Given the description of an element on the screen output the (x, y) to click on. 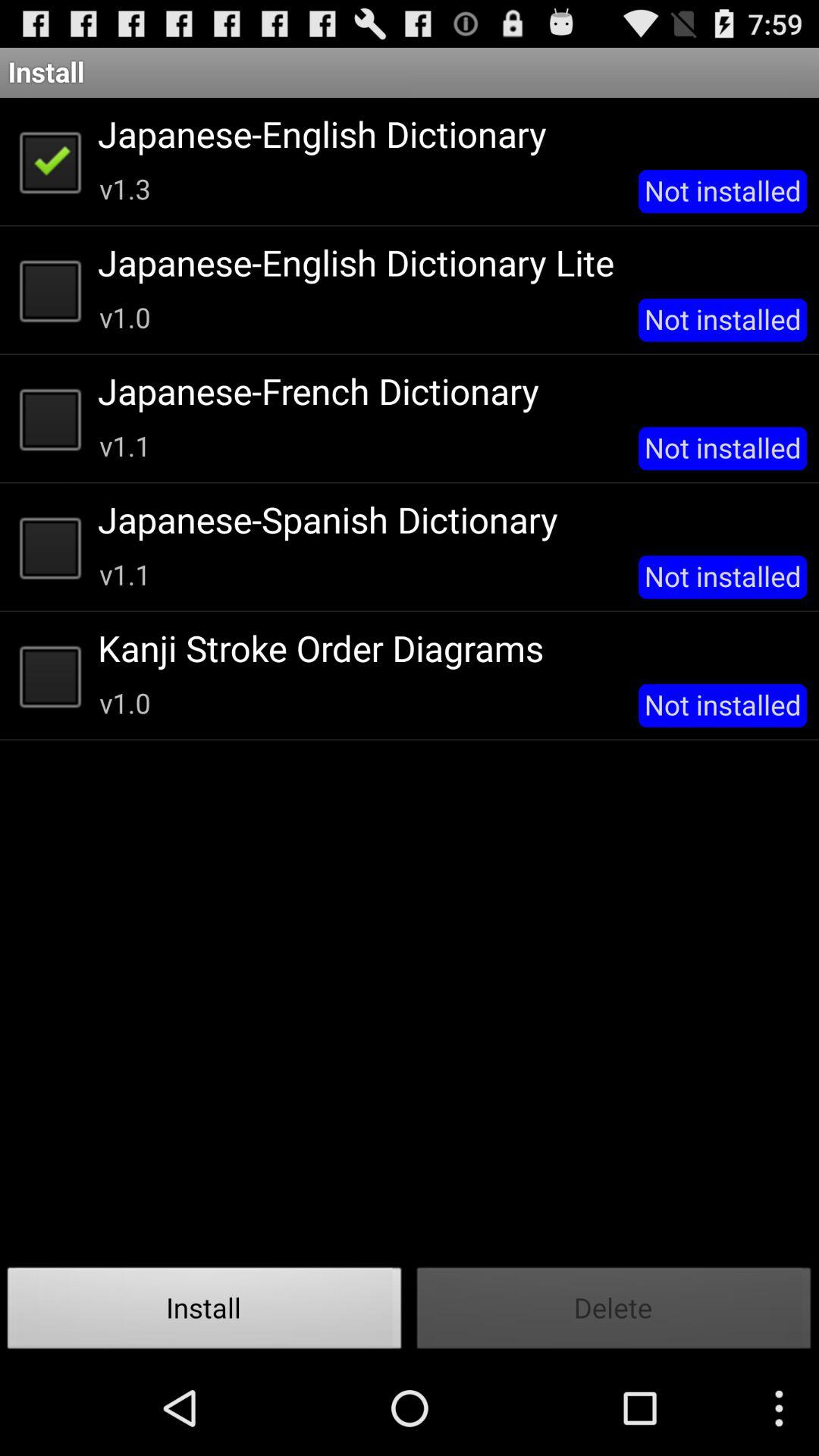
select the delete (614, 1312)
